Given the description of an element on the screen output the (x, y) to click on. 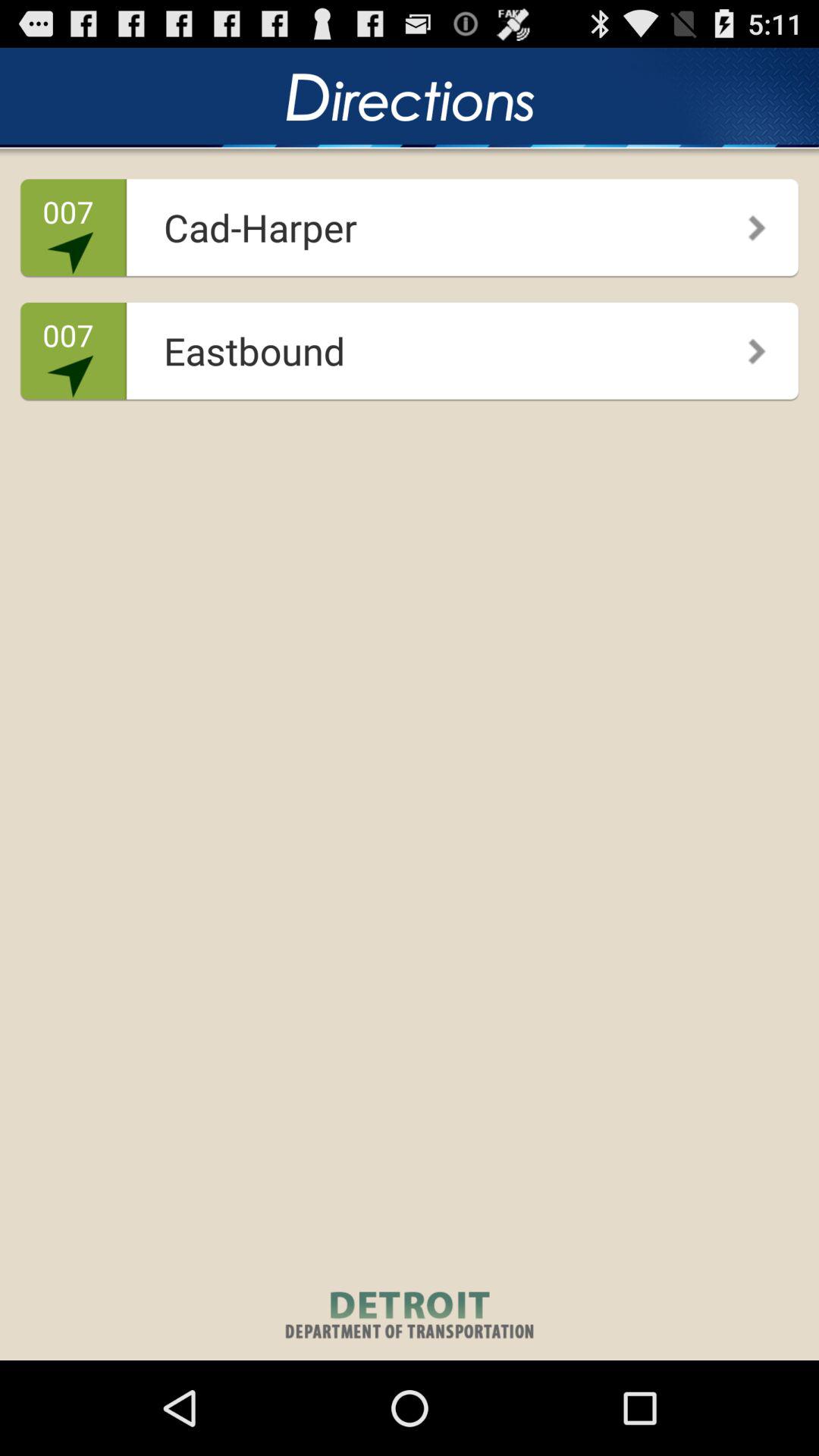
click the app above the eastbound app (746, 222)
